Given the description of an element on the screen output the (x, y) to click on. 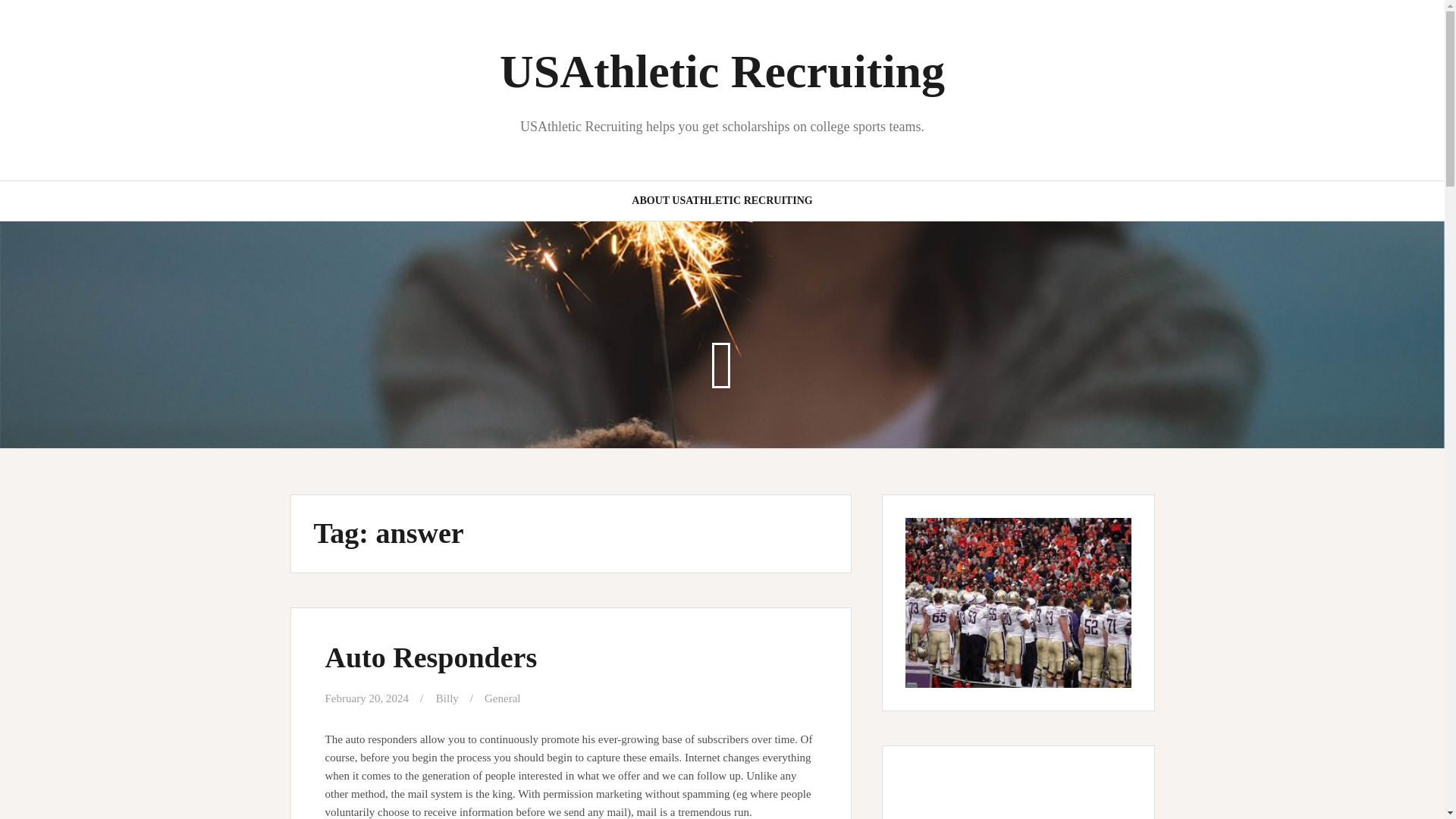
ABOUT USATHLETIC RECRUITING (721, 200)
General (501, 698)
Billy (446, 698)
Auto Responders (430, 657)
USAthletic Recruiting (721, 71)
February 20, 2024 (365, 698)
